Given the description of an element on the screen output the (x, y) to click on. 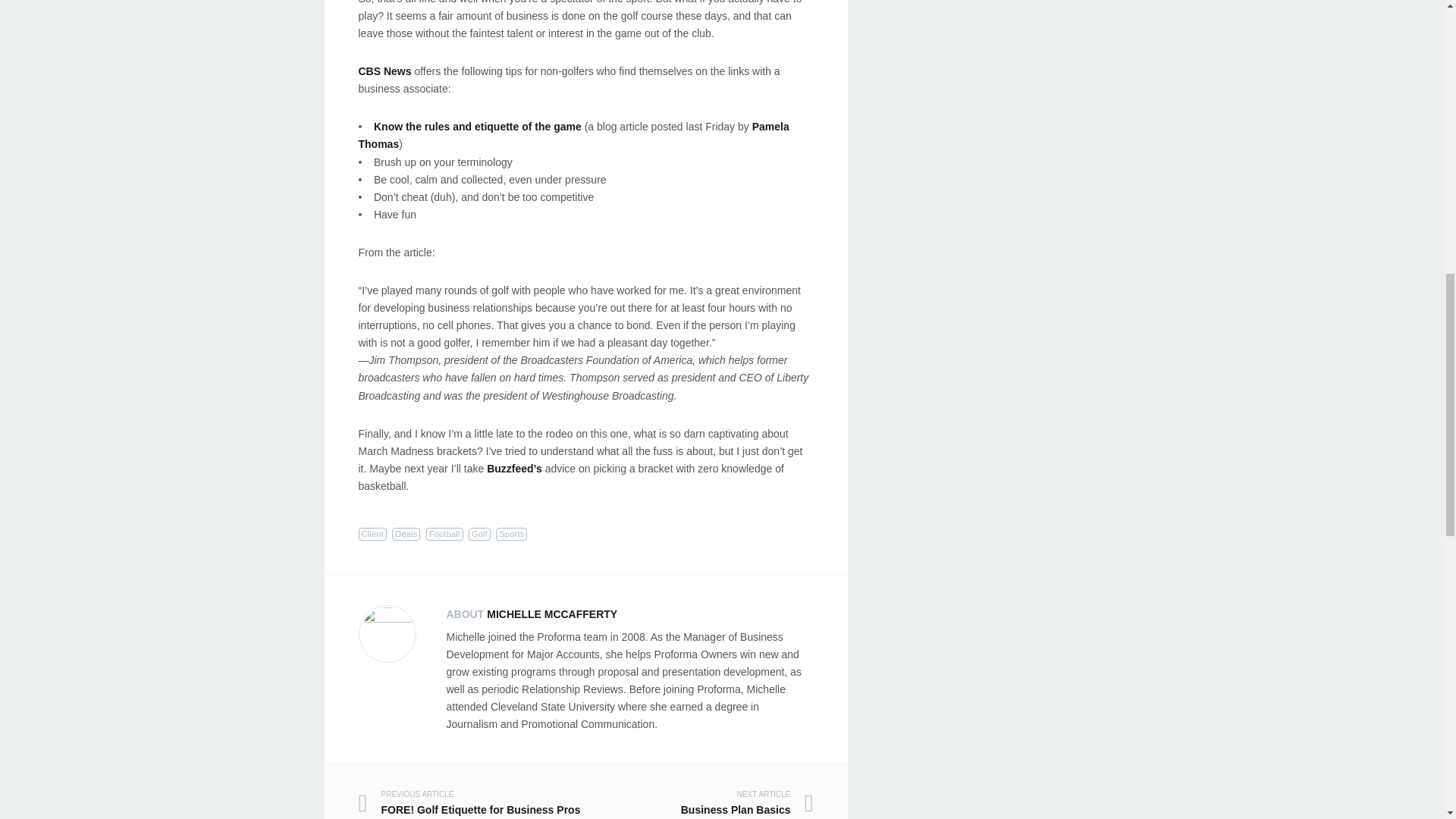
Pamela Thomas (573, 134)
Know the rules and etiquette of the game (477, 126)
Football (444, 533)
Client (371, 533)
CBS News (384, 70)
Sports (471, 803)
MICHELLE MCCAFFERTY (698, 803)
Deals (511, 533)
